Given the description of an element on the screen output the (x, y) to click on. 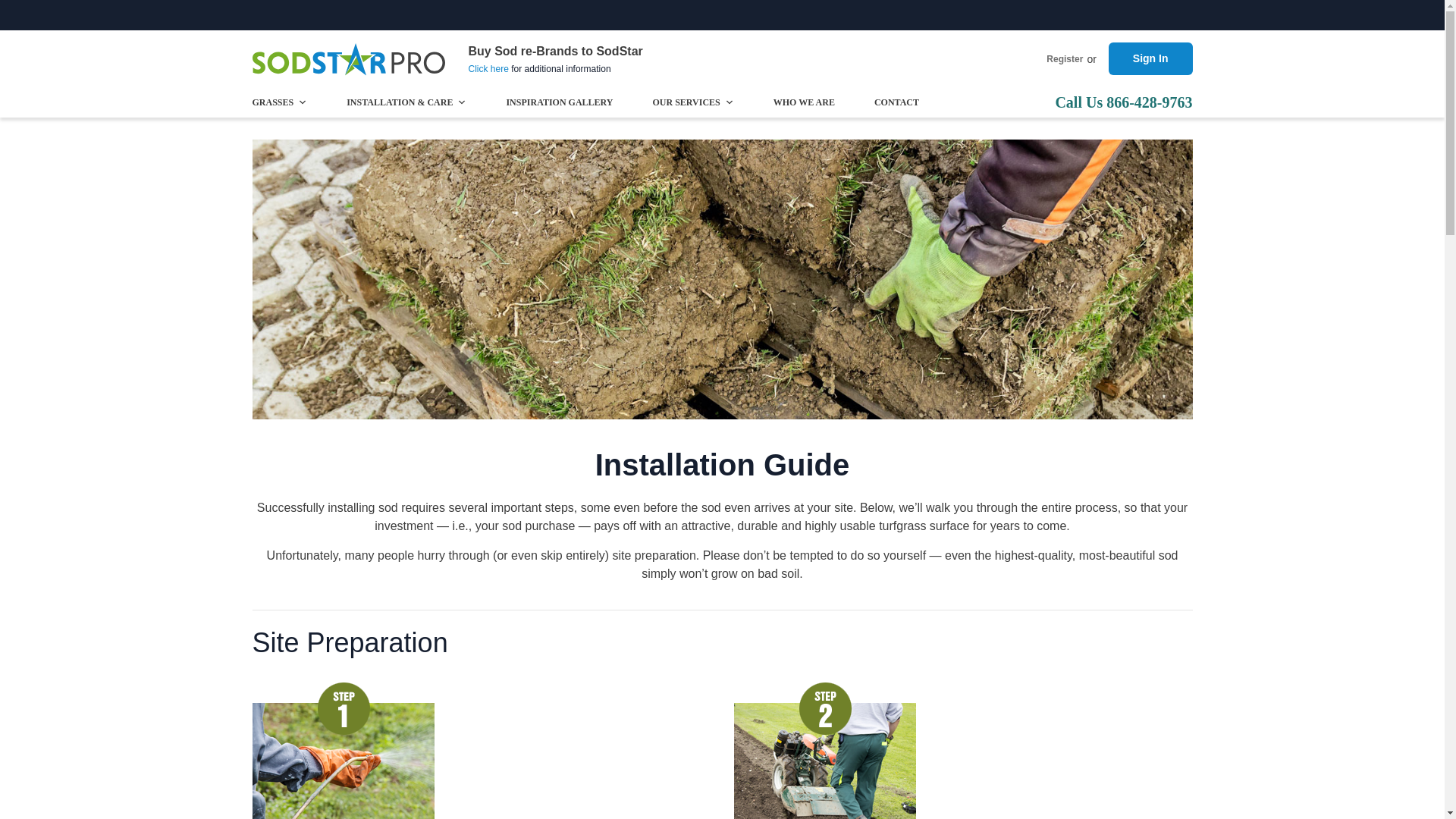
INSPIRATION GALLERY (558, 101)
OUR SERVICES (692, 101)
WHO WE ARE (803, 101)
Click here (488, 68)
Sign In (1150, 58)
CONTACT (896, 101)
Call Us 866-428-9763 (1123, 101)
Register (1064, 59)
GRASSES (279, 101)
